Given the description of an element on the screen output the (x, y) to click on. 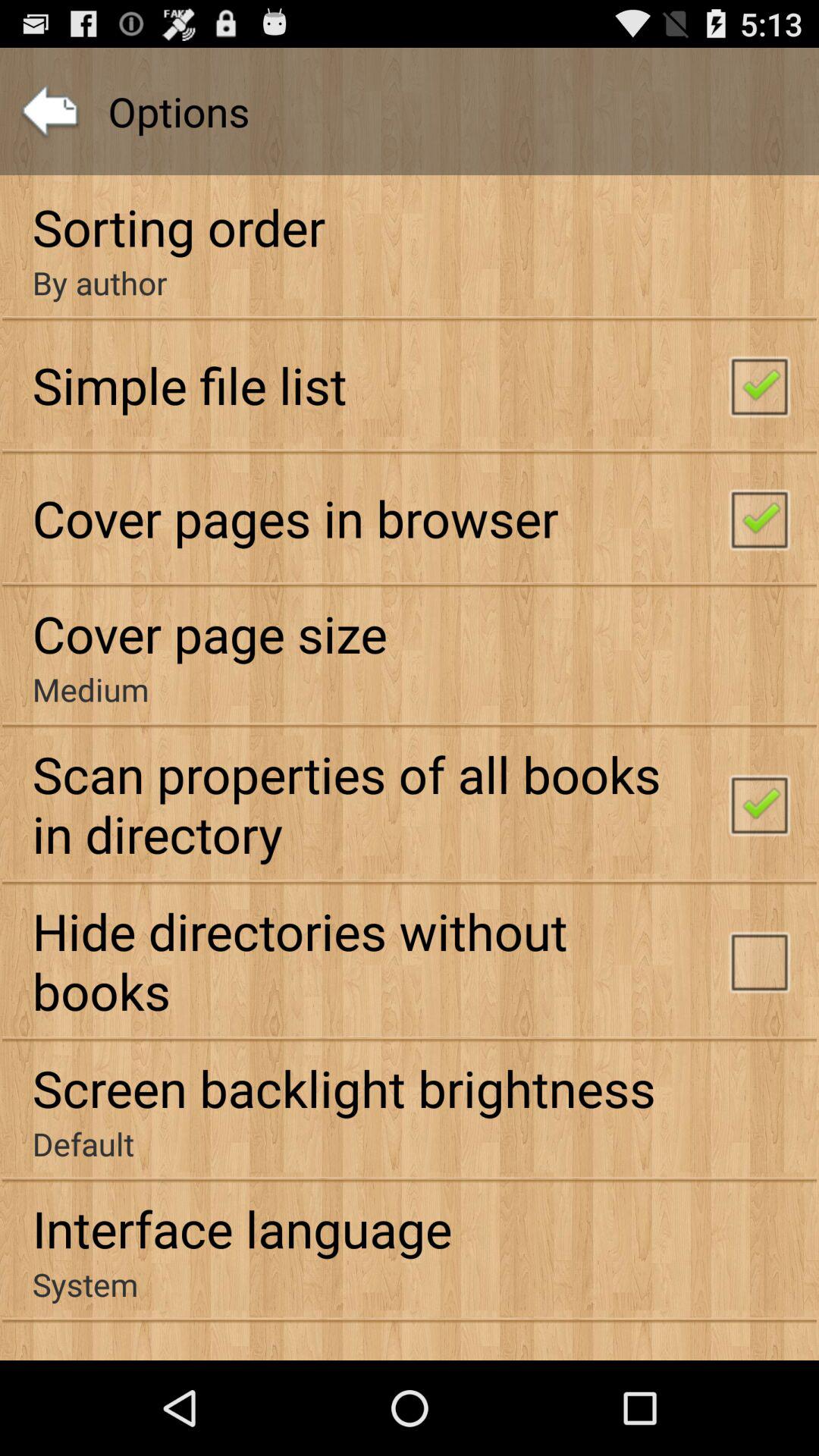
turn off icon above sorting order item (49, 111)
